Given the description of an element on the screen output the (x, y) to click on. 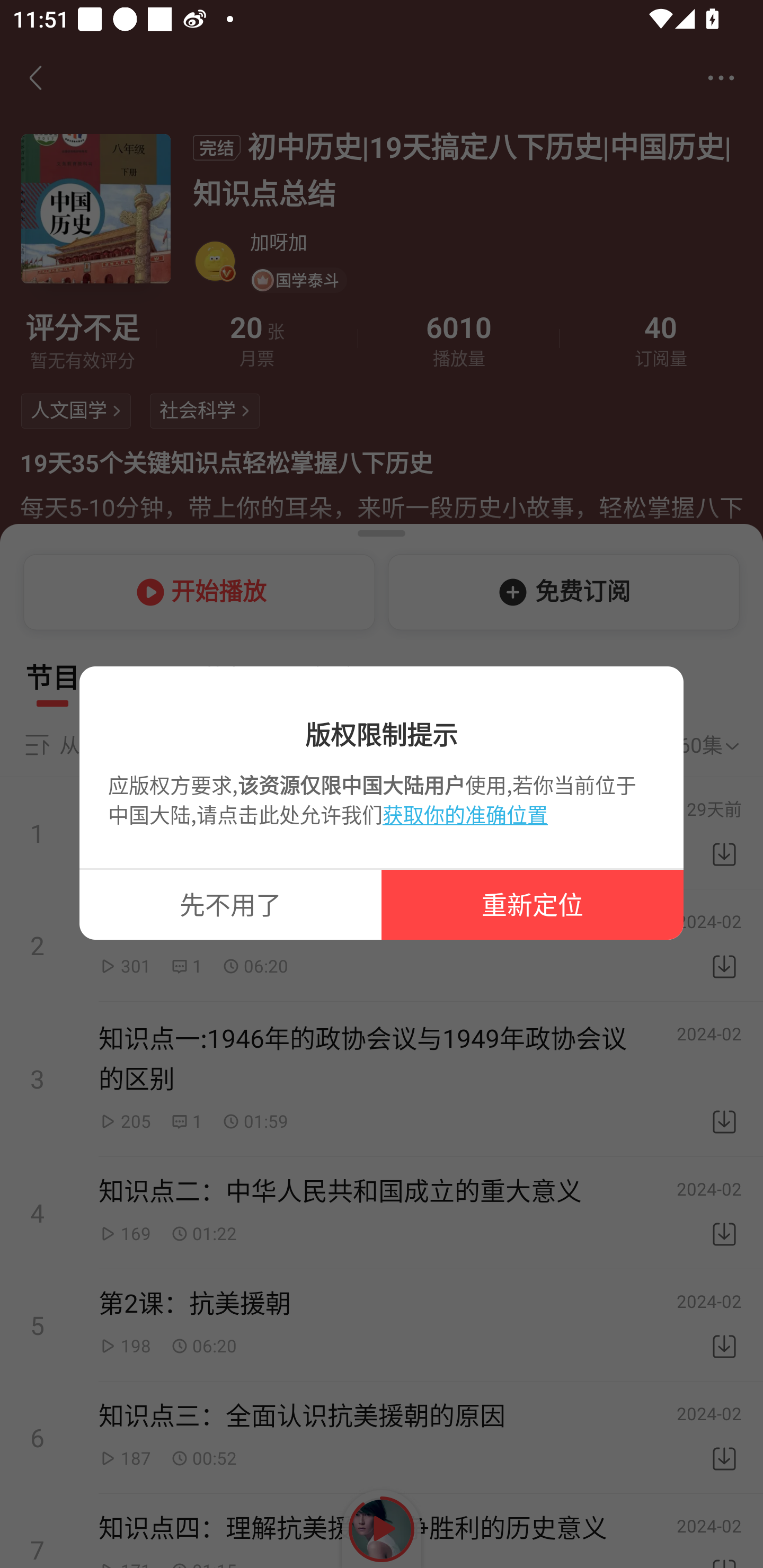
先不用了 (230, 904)
重新定位 (532, 904)
